Given the description of an element on the screen output the (x, y) to click on. 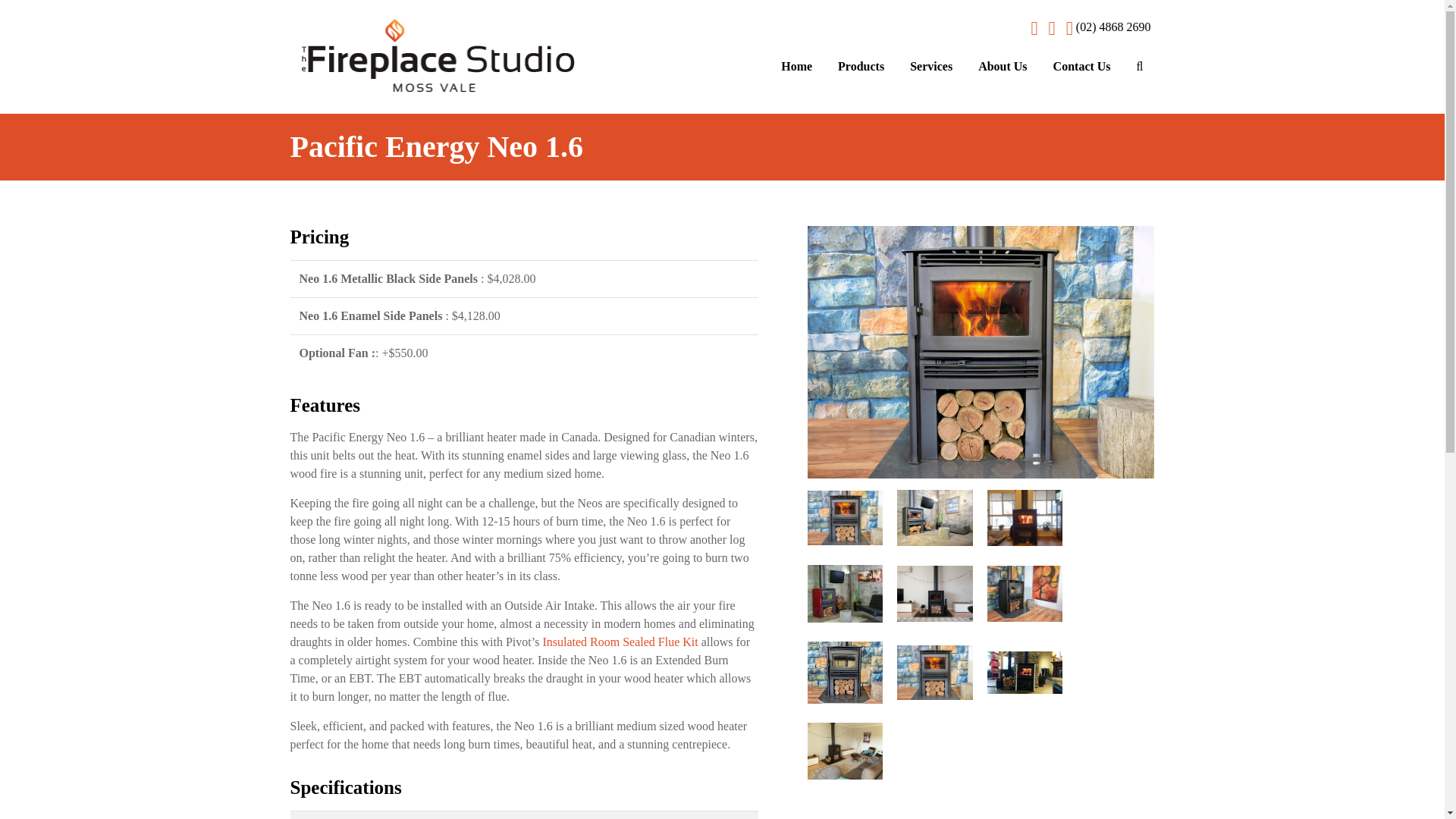
About Us (1002, 66)
Contact Us (1082, 66)
Products (861, 66)
Services (930, 66)
Insulated Room Sealed Flue Kit (619, 641)
Home (797, 66)
